Given the description of an element on the screen output the (x, y) to click on. 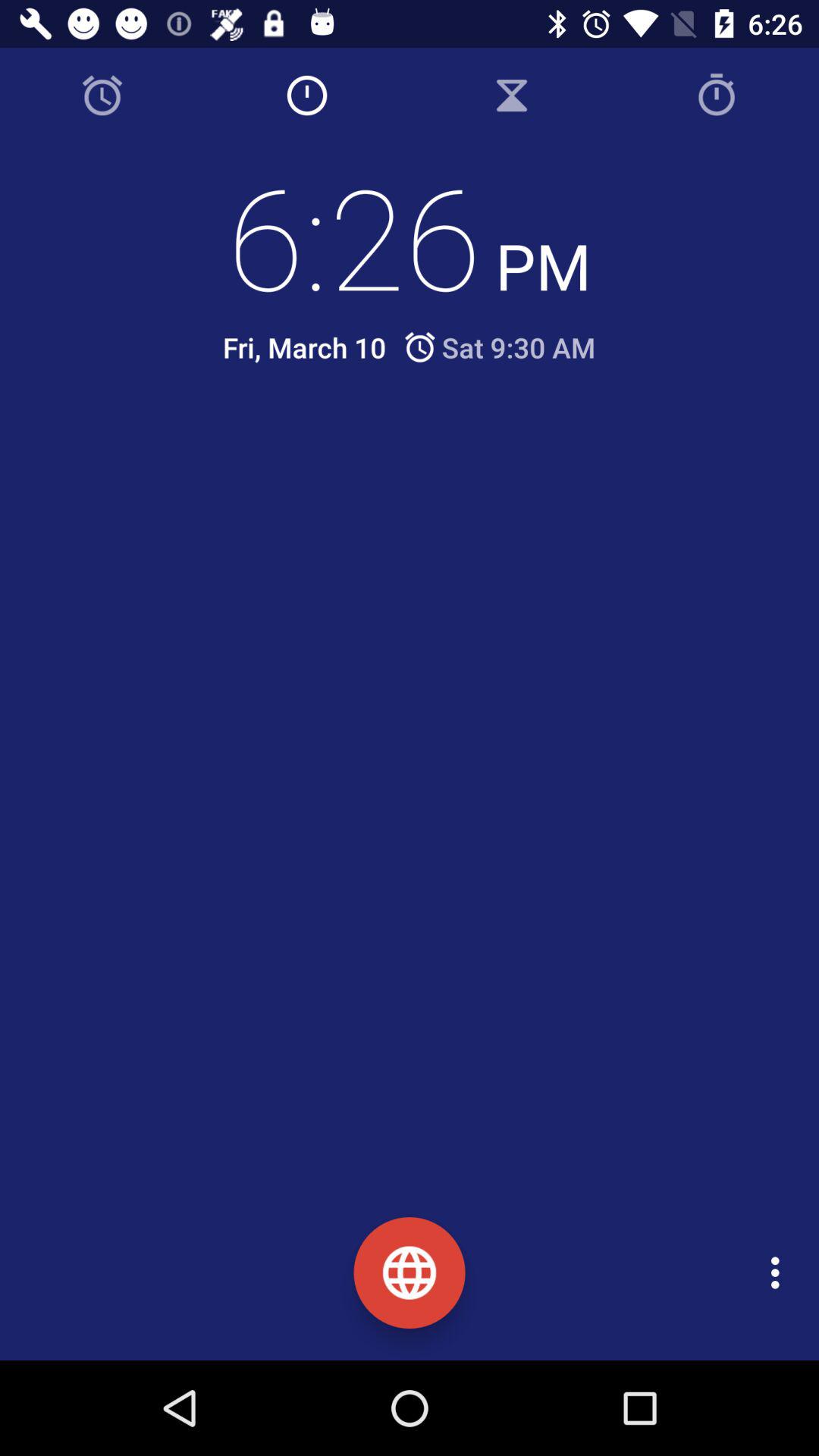
choose icon to the right of the fri, march 10 icon (498, 347)
